Given the description of an element on the screen output the (x, y) to click on. 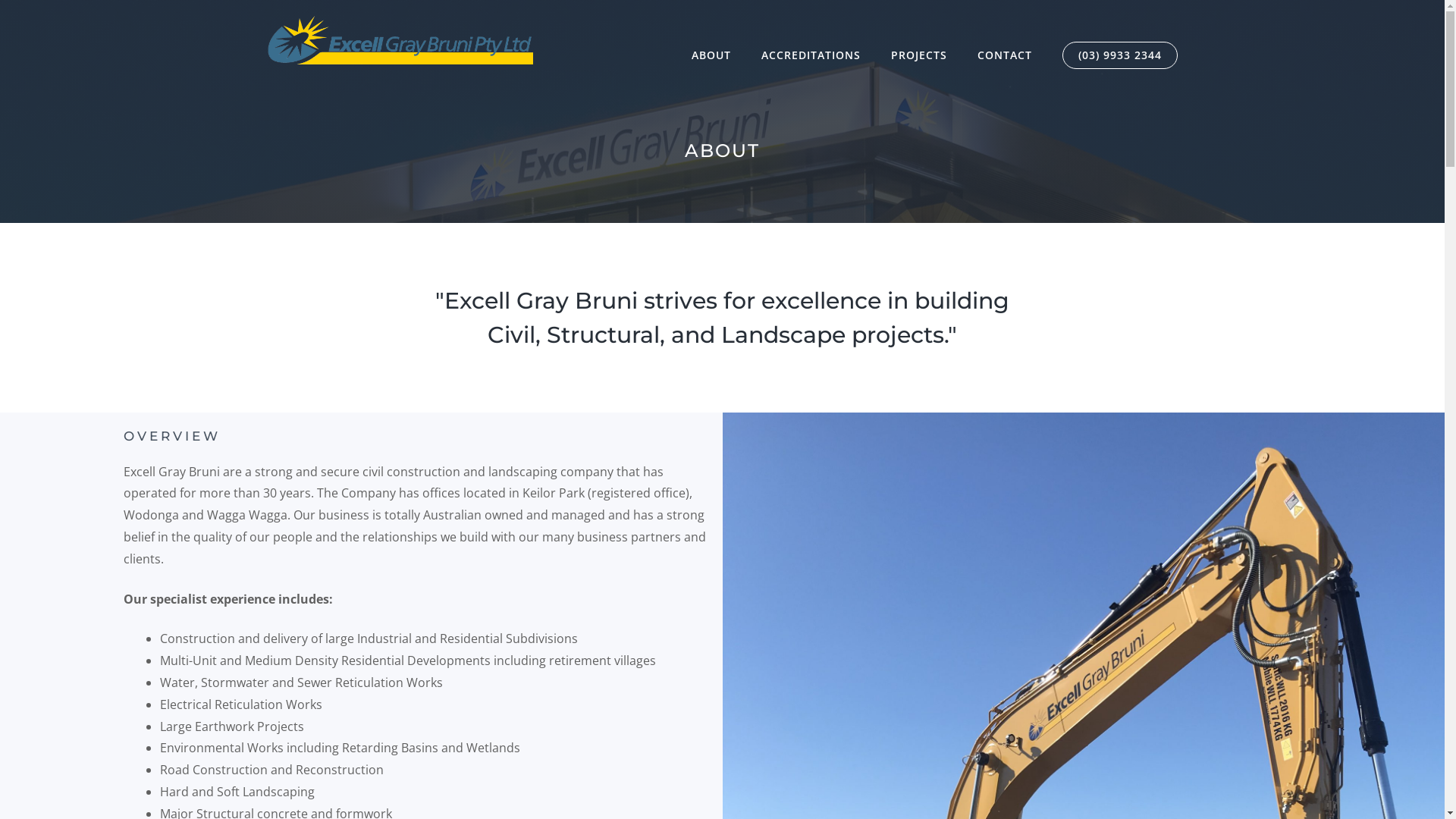
CONTACT Element type: text (1003, 54)
Excell Gray Bruni Element type: hover (399, 38)
Excell Gray Bruni Element type: hover (399, 39)
PROJECTS Element type: text (918, 54)
ACCREDITATIONS Element type: text (810, 54)
(03) 9933 2344 Element type: text (1118, 55)
ABOUT Element type: text (711, 54)
